Given the description of an element on the screen output the (x, y) to click on. 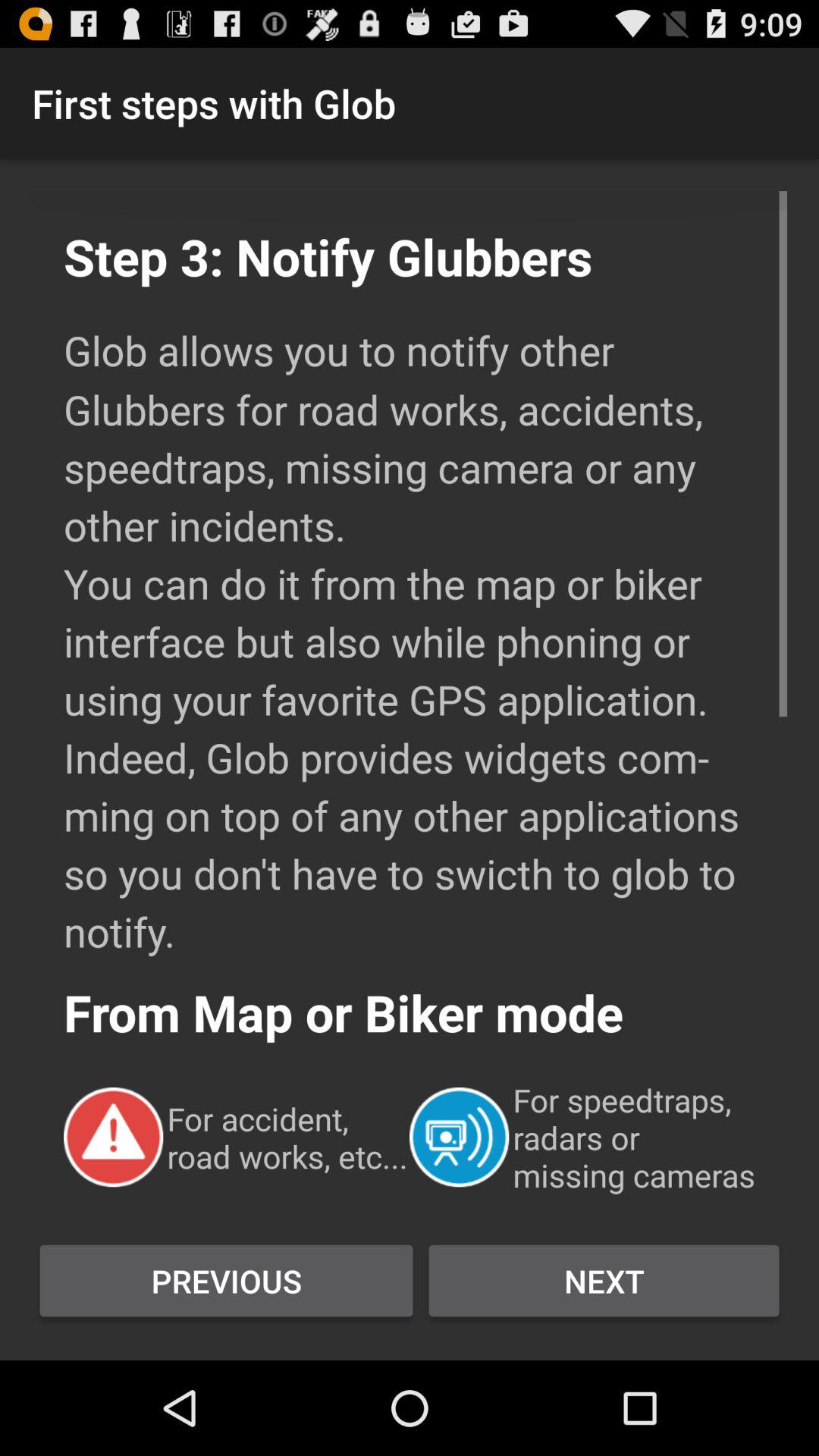
turn off the previous icon (225, 1280)
